Given the description of an element on the screen output the (x, y) to click on. 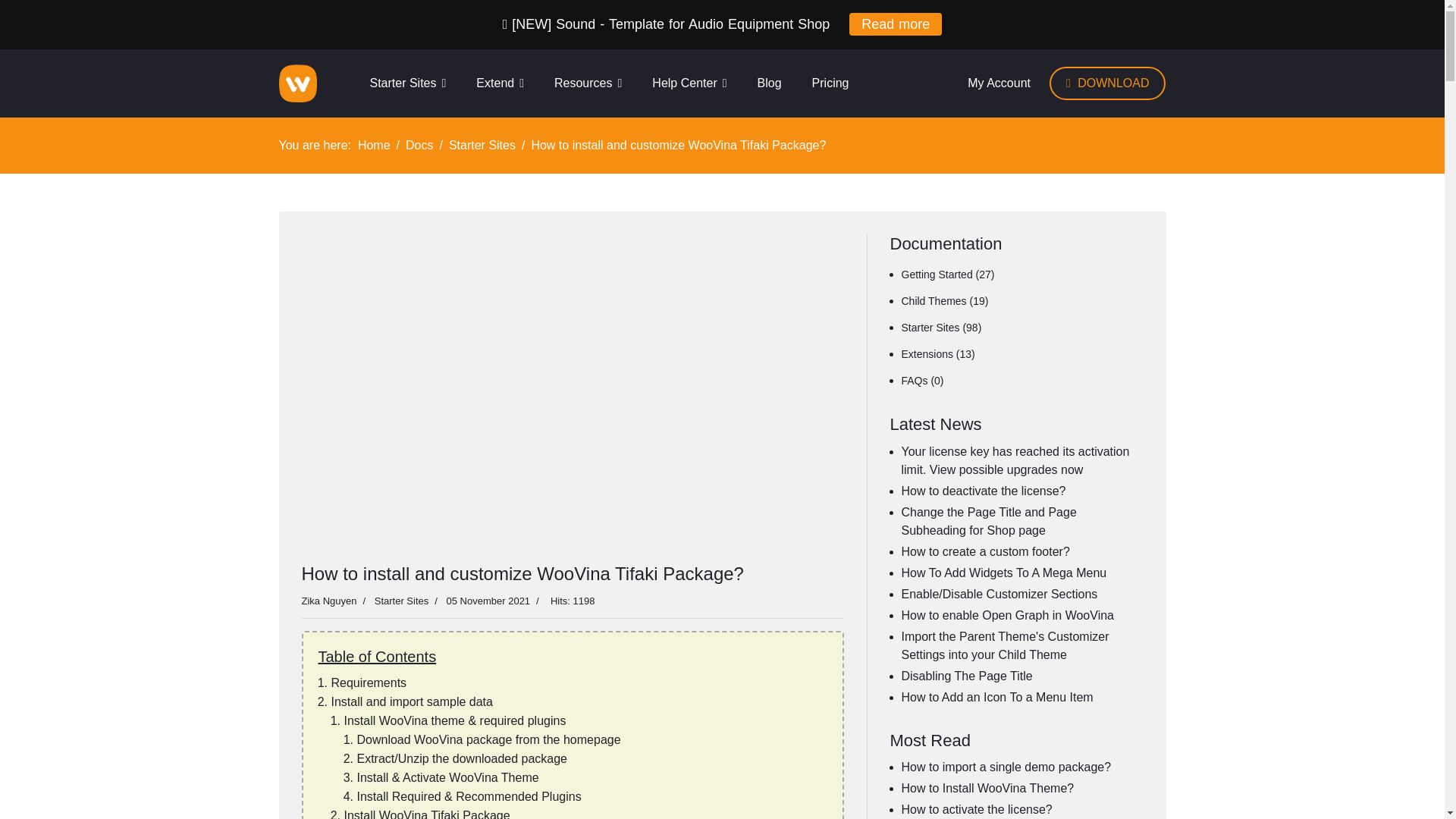
Requirements (368, 682)
Read more (895, 24)
Download WooVina package from the homepage (488, 739)
Published: 05 November 2021 (478, 600)
Starter Sites (407, 83)
Install and import sample data (411, 701)
Extend (499, 83)
Install WooVina Tifaki Package (427, 814)
Resources (588, 83)
Category: Starter Sites (392, 600)
More Details (895, 24)
Written by Zika Nguyen (328, 600)
